Given the description of an element on the screen output the (x, y) to click on. 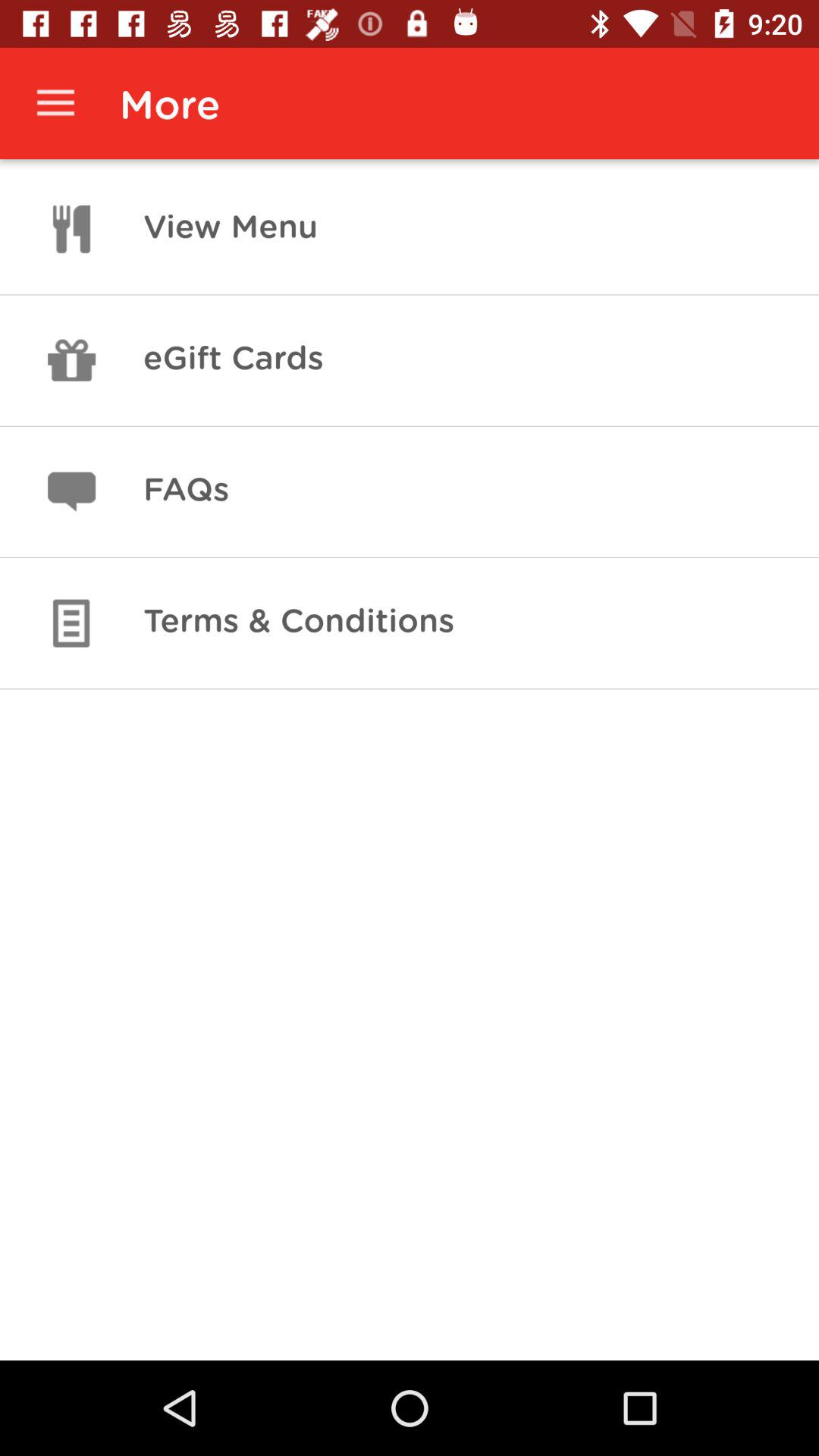
turn off faqs (186, 491)
